Given the description of an element on the screen output the (x, y) to click on. 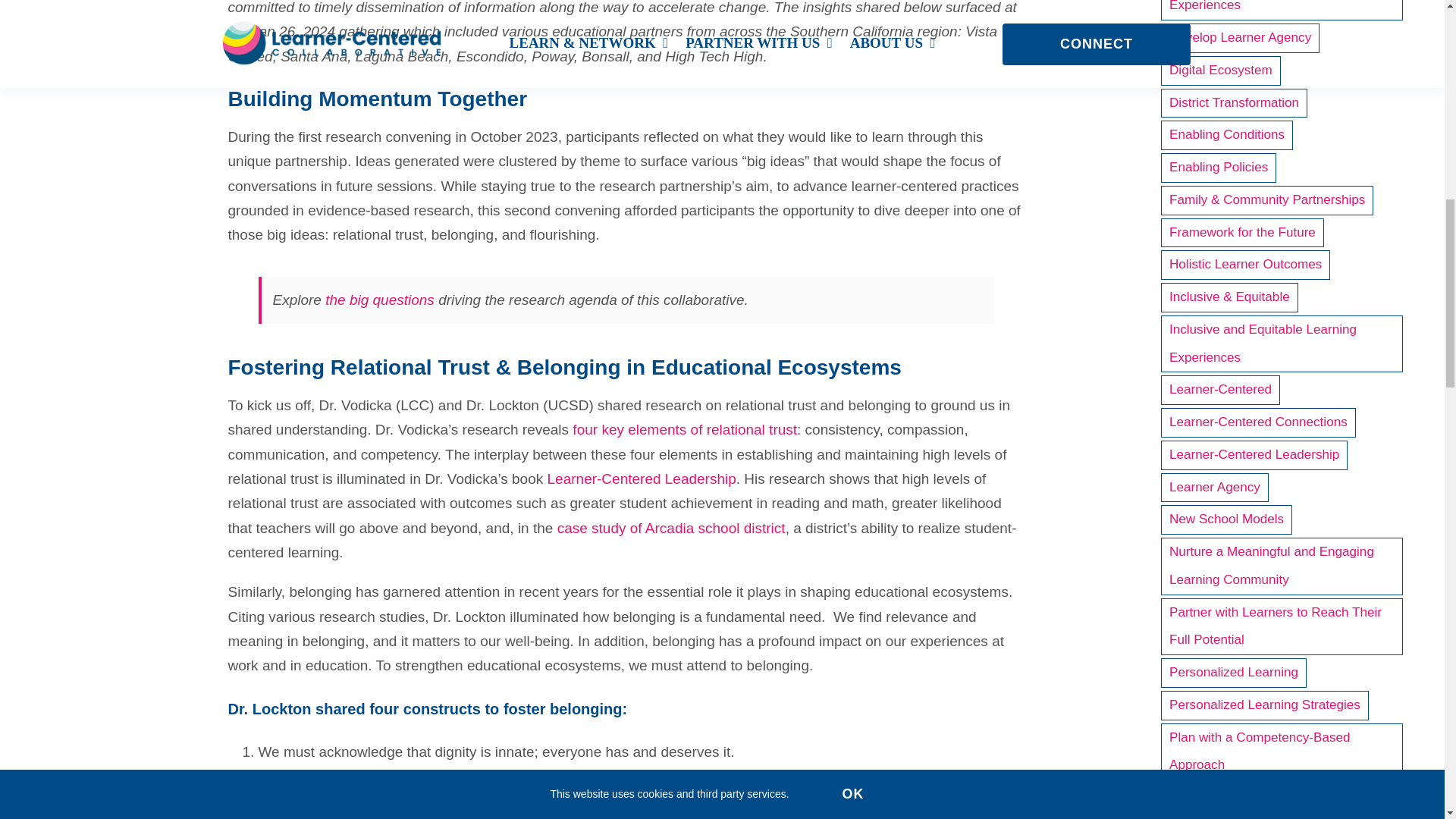
case study of Arcadia school district (671, 528)
four key elements of relational trust (684, 429)
Learner-Centered Leadership (641, 478)
the big questions (378, 299)
